Given the description of an element on the screen output the (x, y) to click on. 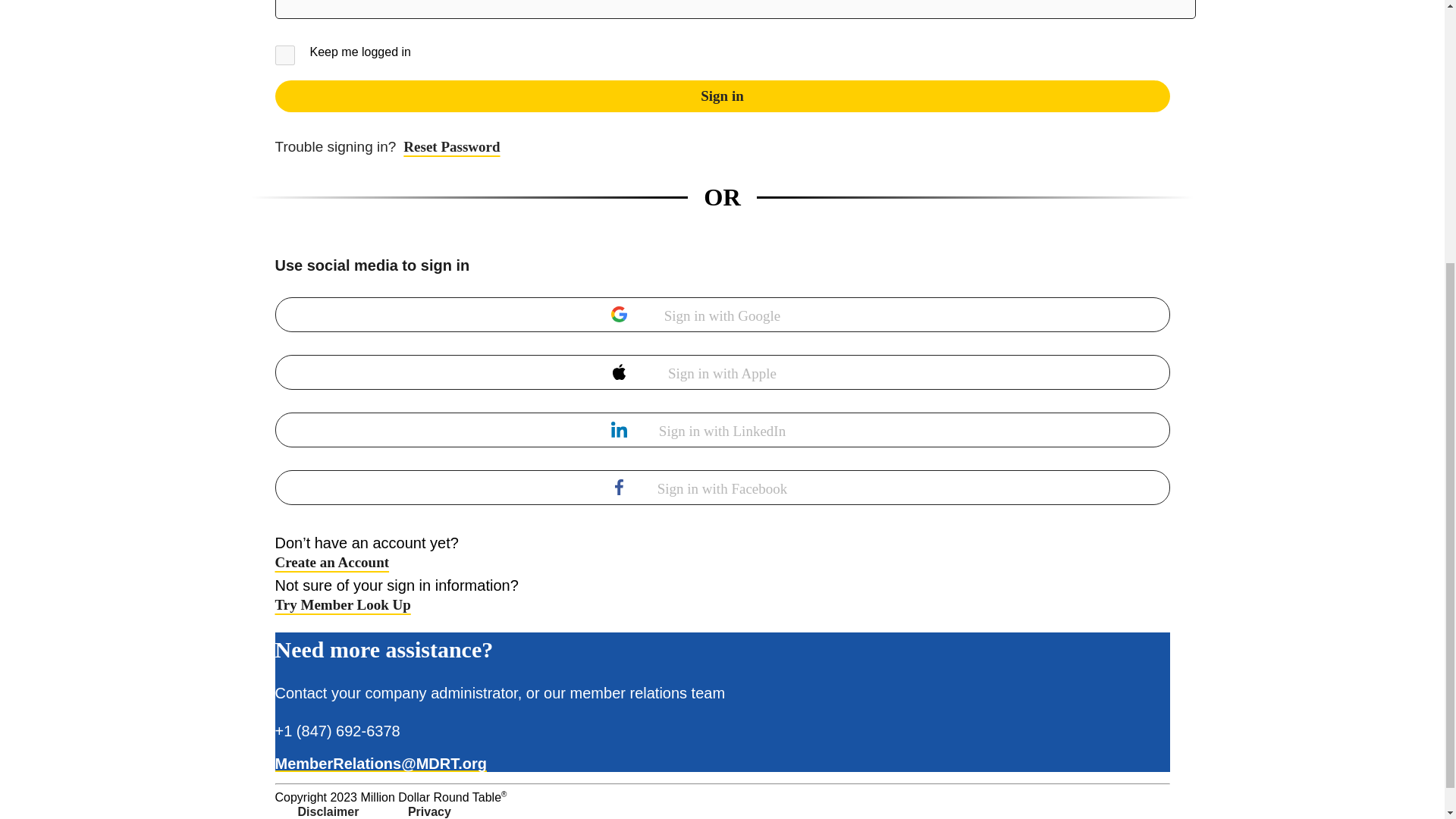
Try Member Look Up (342, 604)
Create an Account (331, 562)
Sign in with Apple (722, 371)
Reset Password (387, 146)
Privacy (429, 811)
Disclaimer (327, 811)
on (284, 55)
Sign in with LinkedIn (722, 429)
Sign in with Google (722, 314)
Sign in (722, 96)
